Given the description of an element on the screen output the (x, y) to click on. 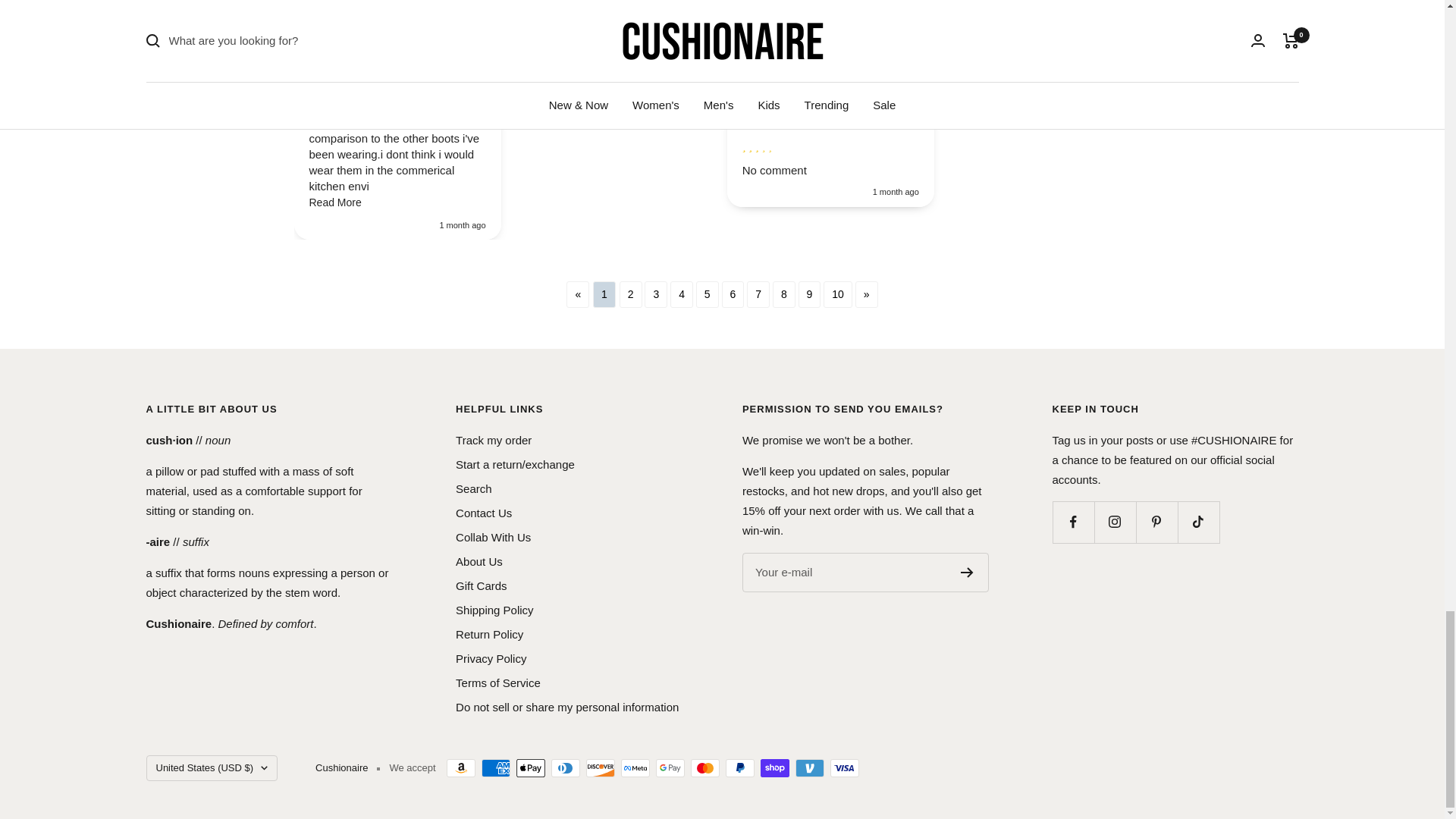
Register (967, 572)
